Given the description of an element on the screen output the (x, y) to click on. 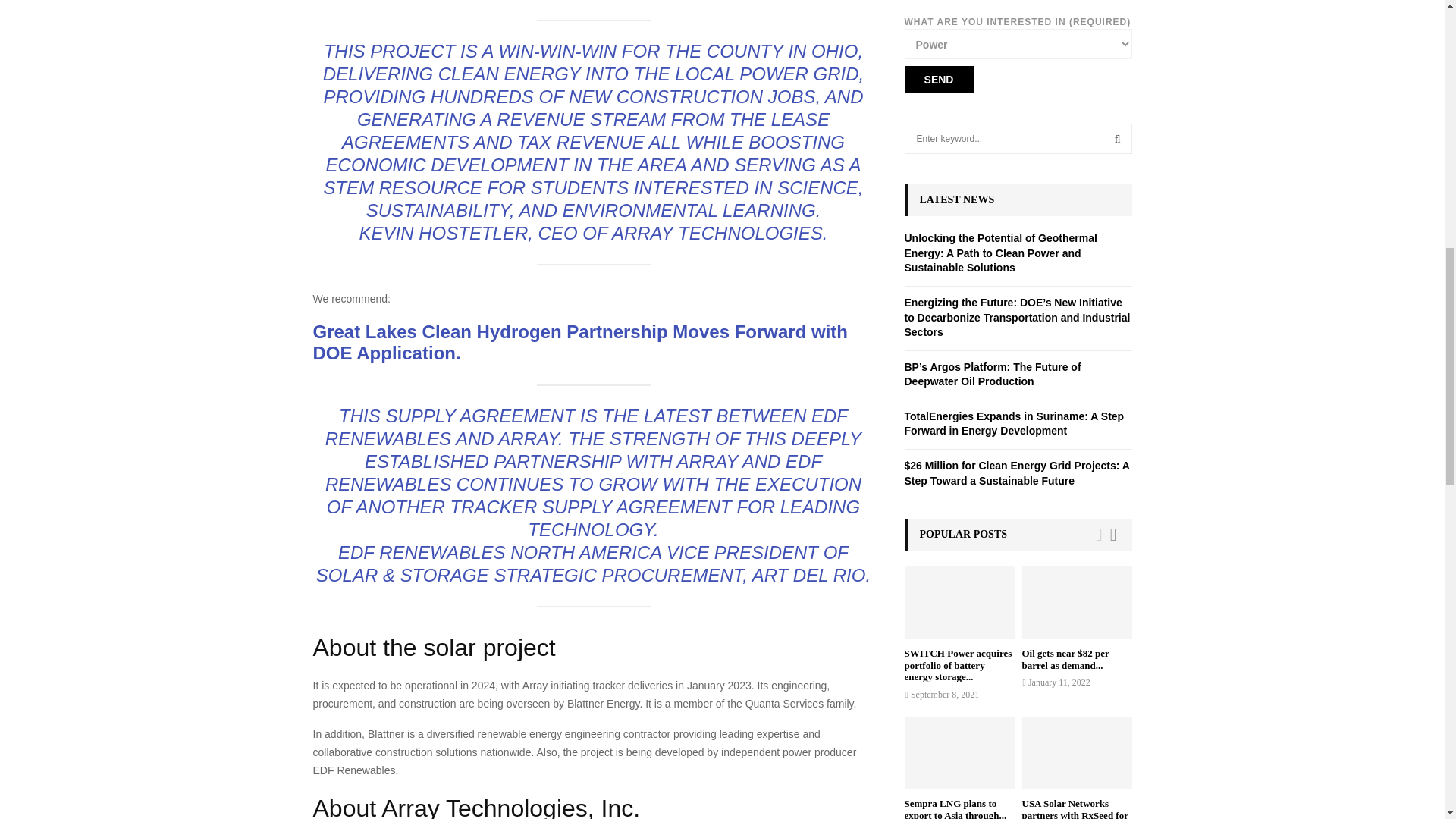
Send (938, 79)
